Given the description of an element on the screen output the (x, y) to click on. 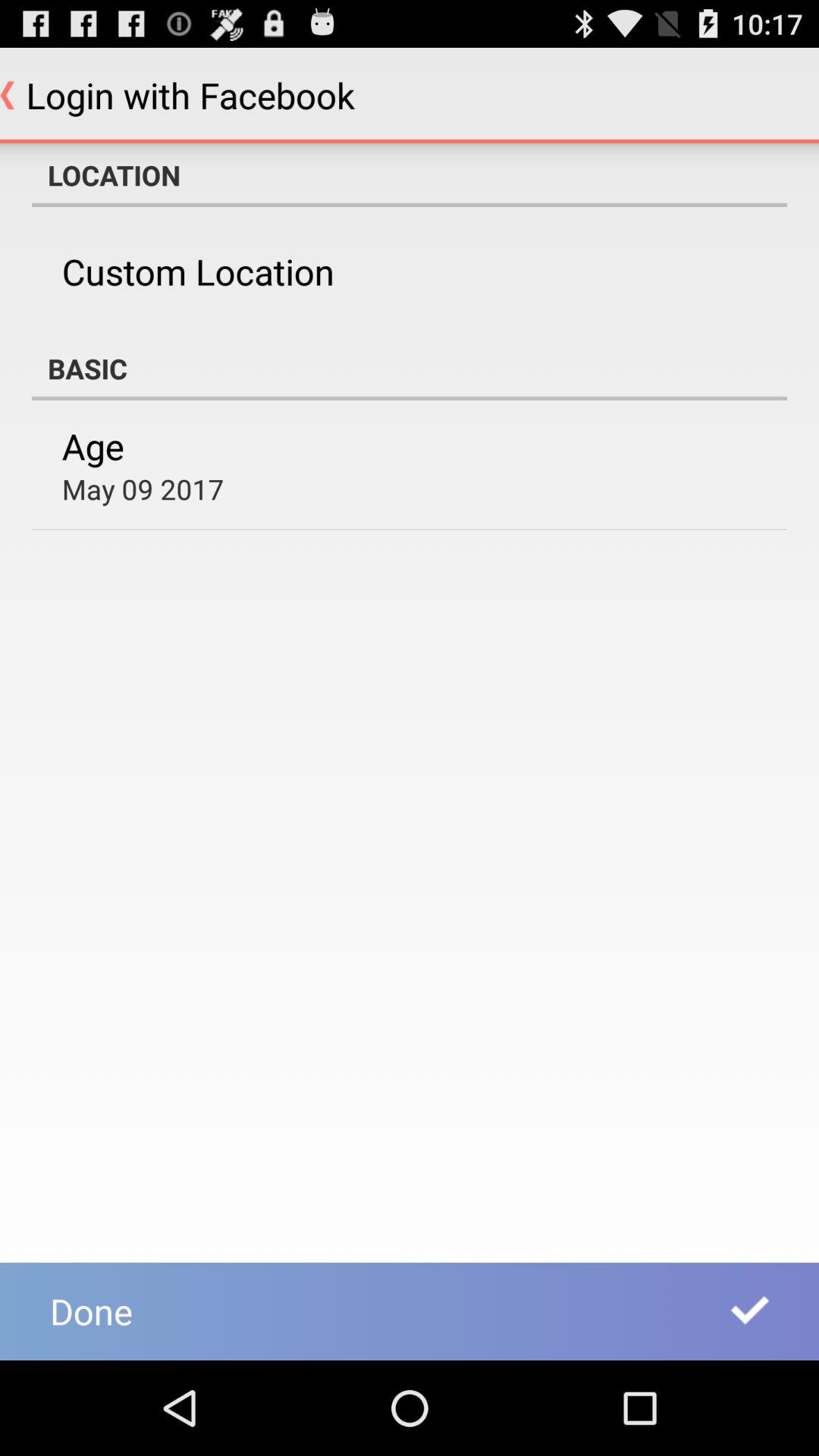
tap the item above basic (197, 271)
